Given the description of an element on the screen output the (x, y) to click on. 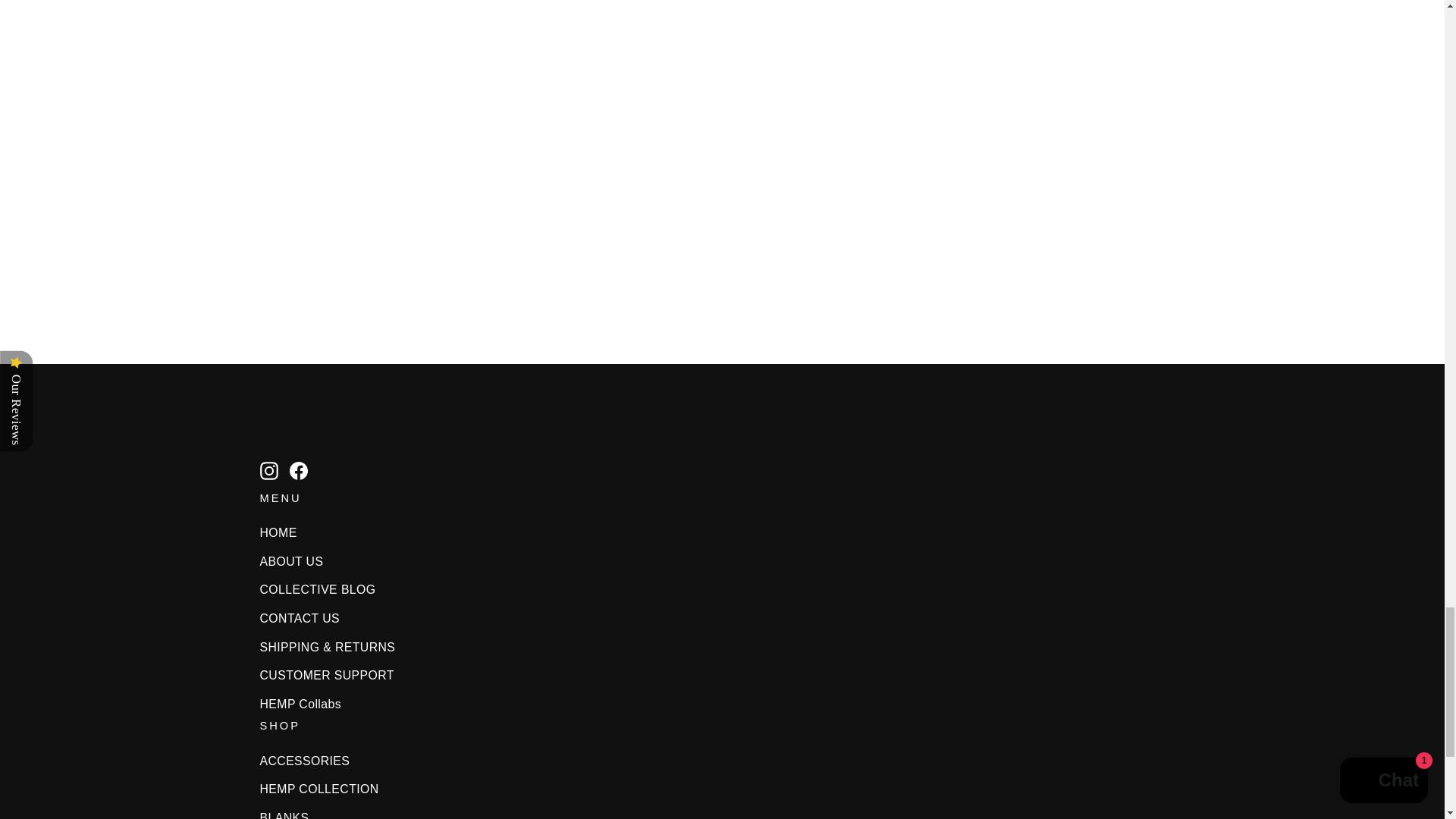
Somewon on Instagram (268, 469)
Somewon on Facebook (298, 469)
